Given the description of an element on the screen output the (x, y) to click on. 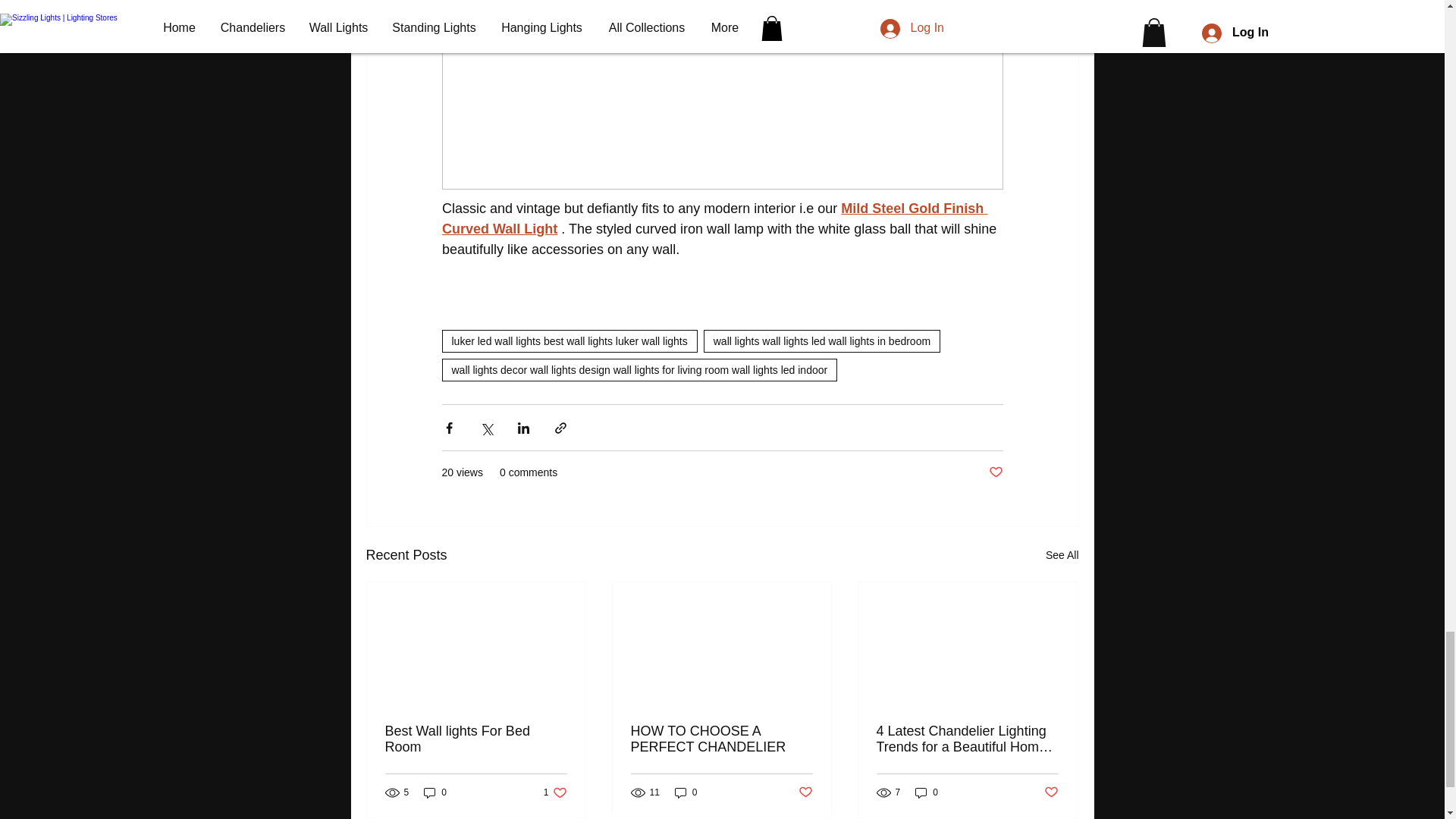
Best Wall lights For Bed Room (476, 739)
Mild Steel Gold Finish Curved Wall Light (714, 218)
luker led wall lights best wall lights luker wall lights (569, 341)
See All (1061, 555)
Post not marked as liked (995, 472)
0 (435, 792)
wall lights wall lights led wall lights in bedroom (821, 341)
